Given the description of an element on the screen output the (x, y) to click on. 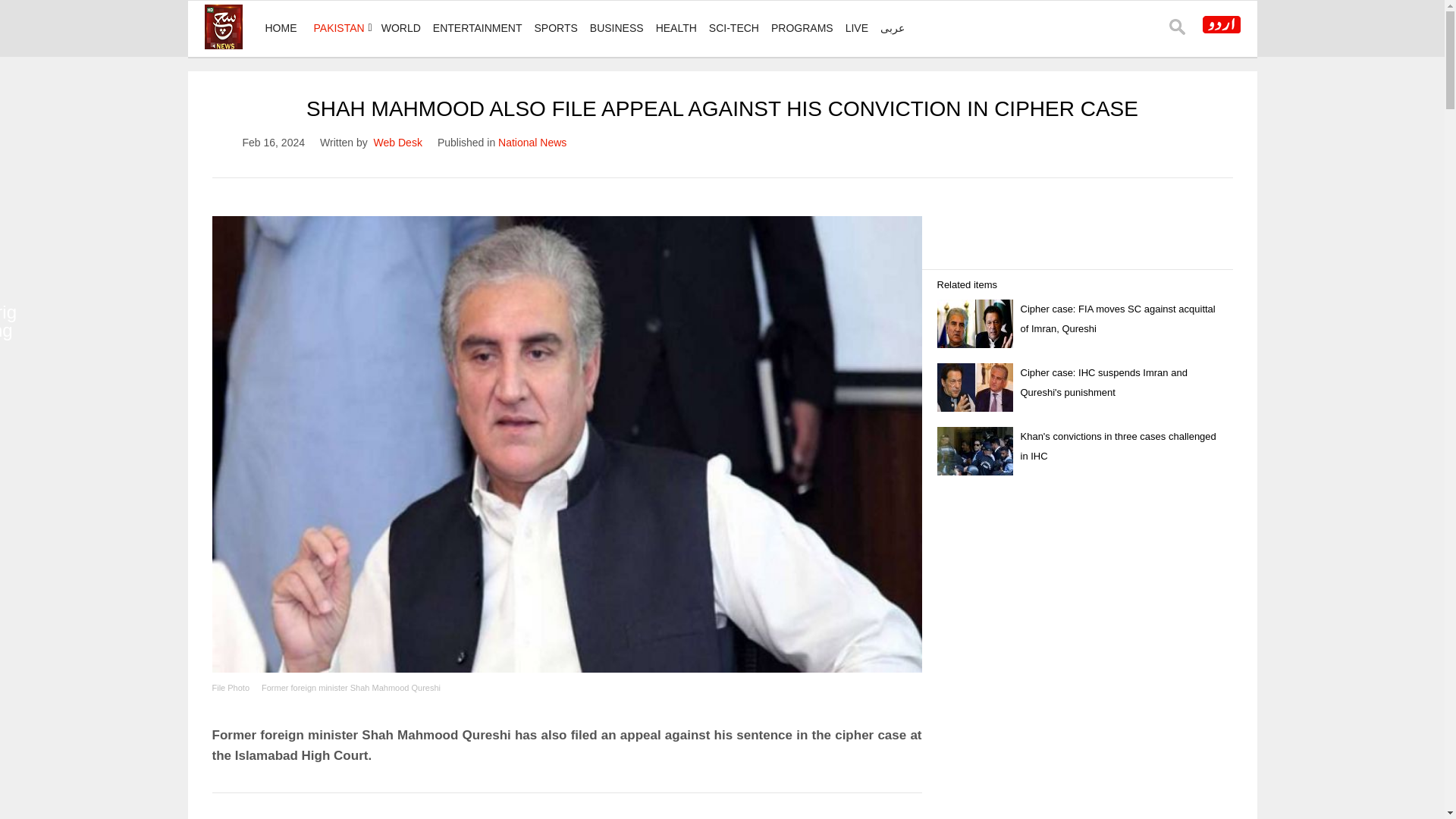
PAKISTAN (338, 27)
ENTERTAINMENT (477, 27)
BUSINESS (616, 27)
SCI-TECH (734, 27)
HEALTH (676, 27)
SPORTS (555, 27)
Cipher case: IHC suspends Imran and Qureshi's punishment (1104, 338)
Web Desk (398, 142)
National News (531, 142)
Khan's convictions in three cases challenged in IHC (1117, 402)
WORLD (400, 27)
PROGRAMS (802, 27)
